Given the description of an element on the screen output the (x, y) to click on. 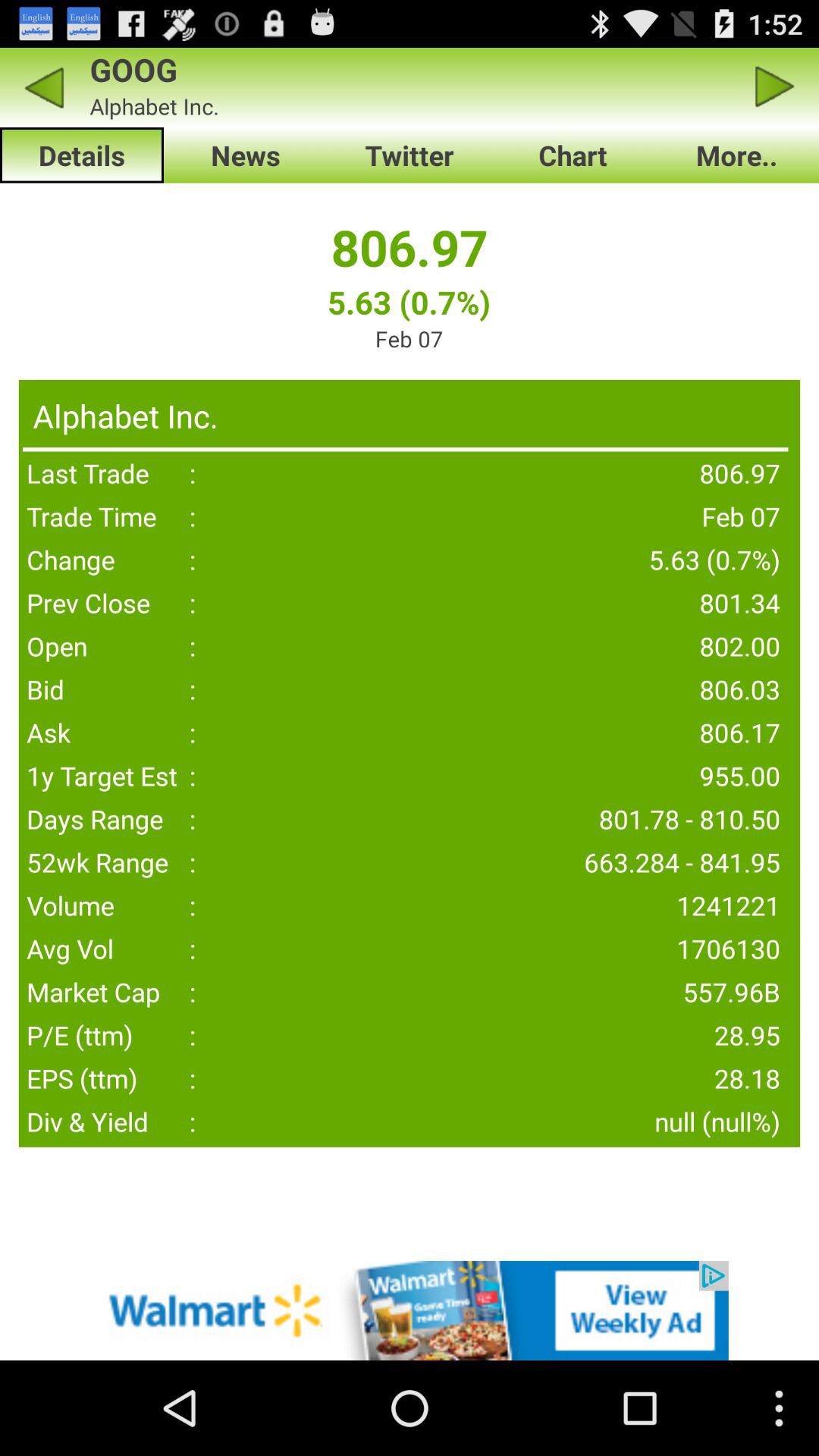
go to next page (775, 87)
